Given the description of an element on the screen output the (x, y) to click on. 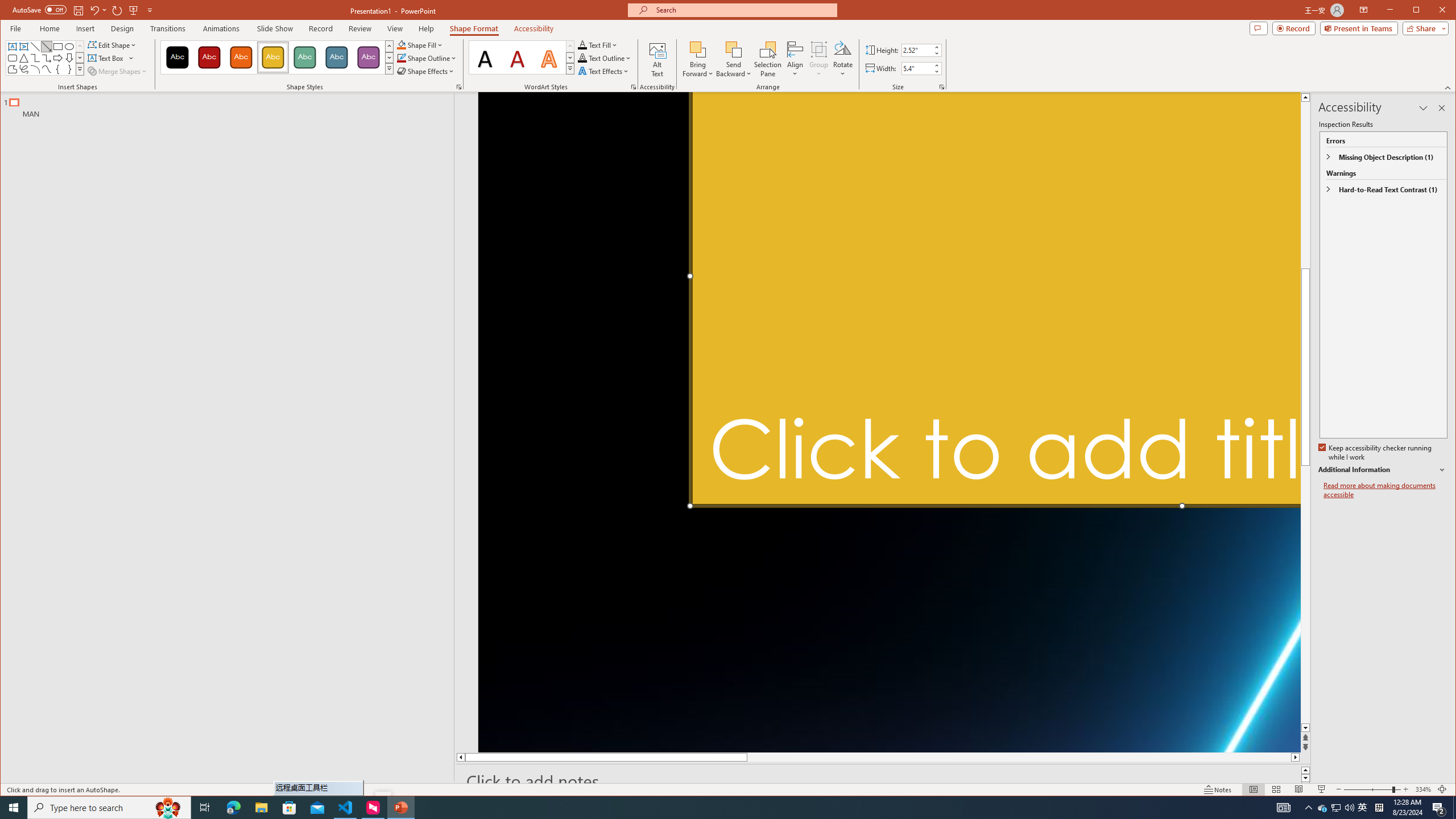
Title TextBox (994, 299)
Freeform: Scribble (23, 69)
Right Brace (69, 69)
Fill: Black, Text color 1; Shadow (486, 57)
